Given the description of an element on the screen output the (x, y) to click on. 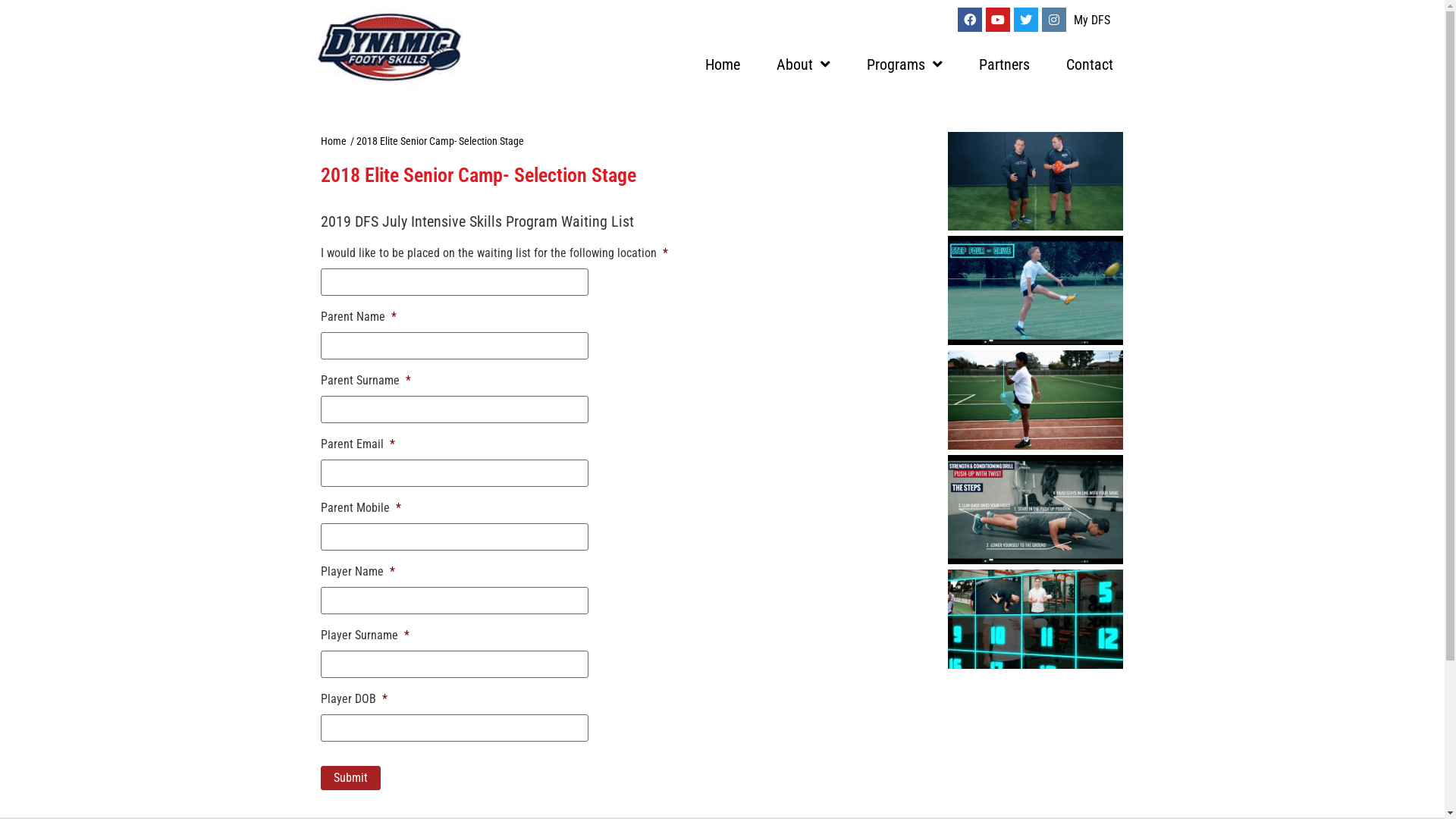
About Element type: text (803, 64)
2018 Elite Senior Camp- Selection Stage Element type: text (440, 140)
Home Element type: text (722, 64)
My DFS Element type: text (1091, 19)
Submit Element type: text (349, 777)
Programs Element type: text (904, 64)
Contact Element type: text (1089, 64)
Partners Element type: text (1004, 64)
Home Element type: text (332, 140)
